Given the description of an element on the screen output the (x, y) to click on. 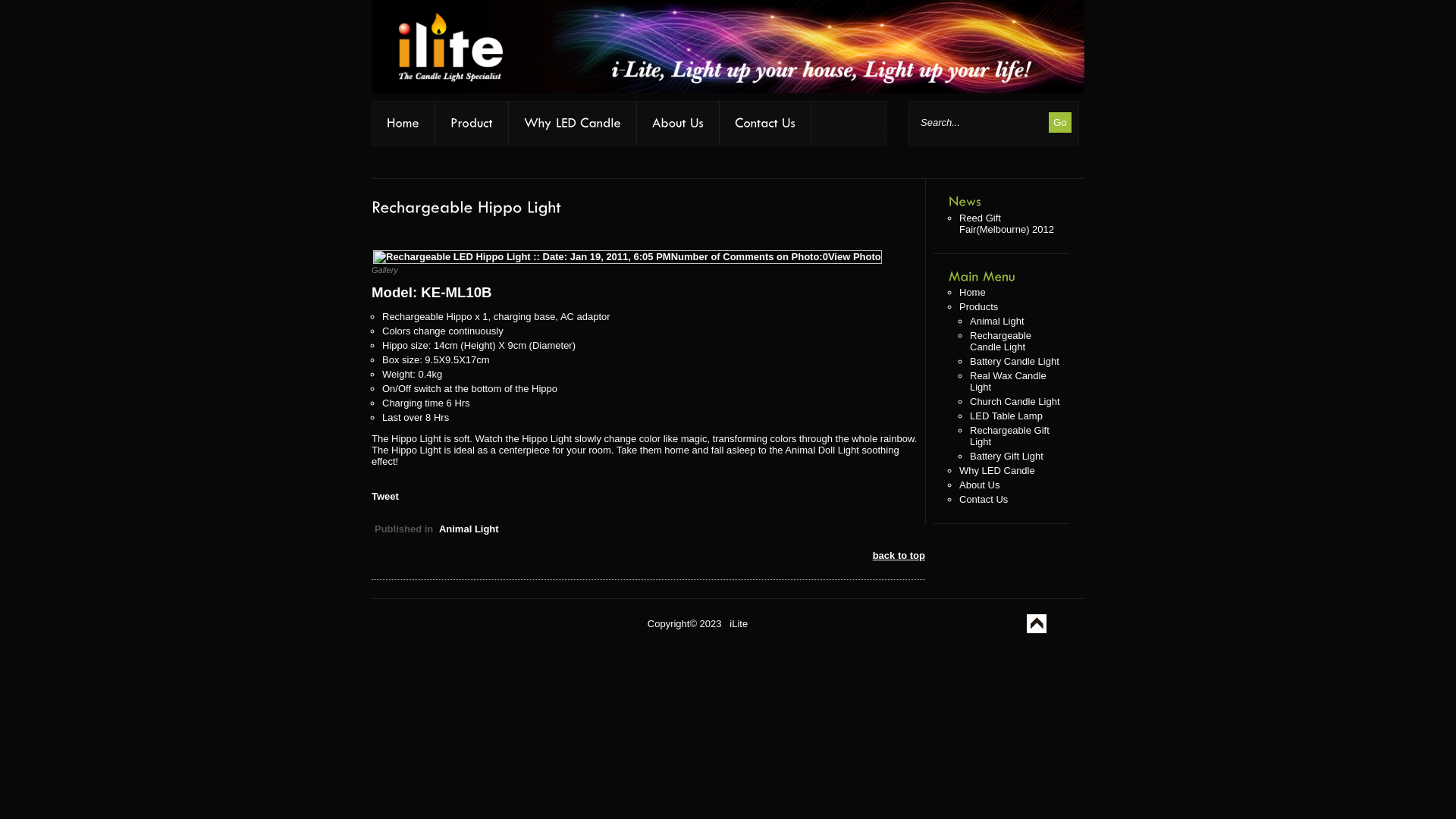
LED Table Lamp Element type: text (1005, 415)
Rechargeable Gift Light Element type: text (1009, 435)
Church Candle Light Element type: text (1014, 401)
About Us Element type: text (979, 484)
Rechargeable Candle Light Element type: text (1000, 340)
Tweet Element type: text (384, 496)
Real Wax Candle Light Element type: text (1007, 381)
Products Element type: text (978, 306)
Animal Light Element type: text (468, 528)
Animal Light Element type: text (996, 320)
back to top Element type: text (898, 555)
Home Element type: text (972, 292)
Battery Candle Light Element type: text (1014, 361)
Why LED Candle Element type: text (997, 470)
Battery Gift Light Element type: text (1006, 455)
Contact Us Element type: text (983, 499)
Go Element type: text (1059, 122)
Reed Gift Fair(Melbourne) 2012 Element type: text (1006, 223)
